Given the description of an element on the screen output the (x, y) to click on. 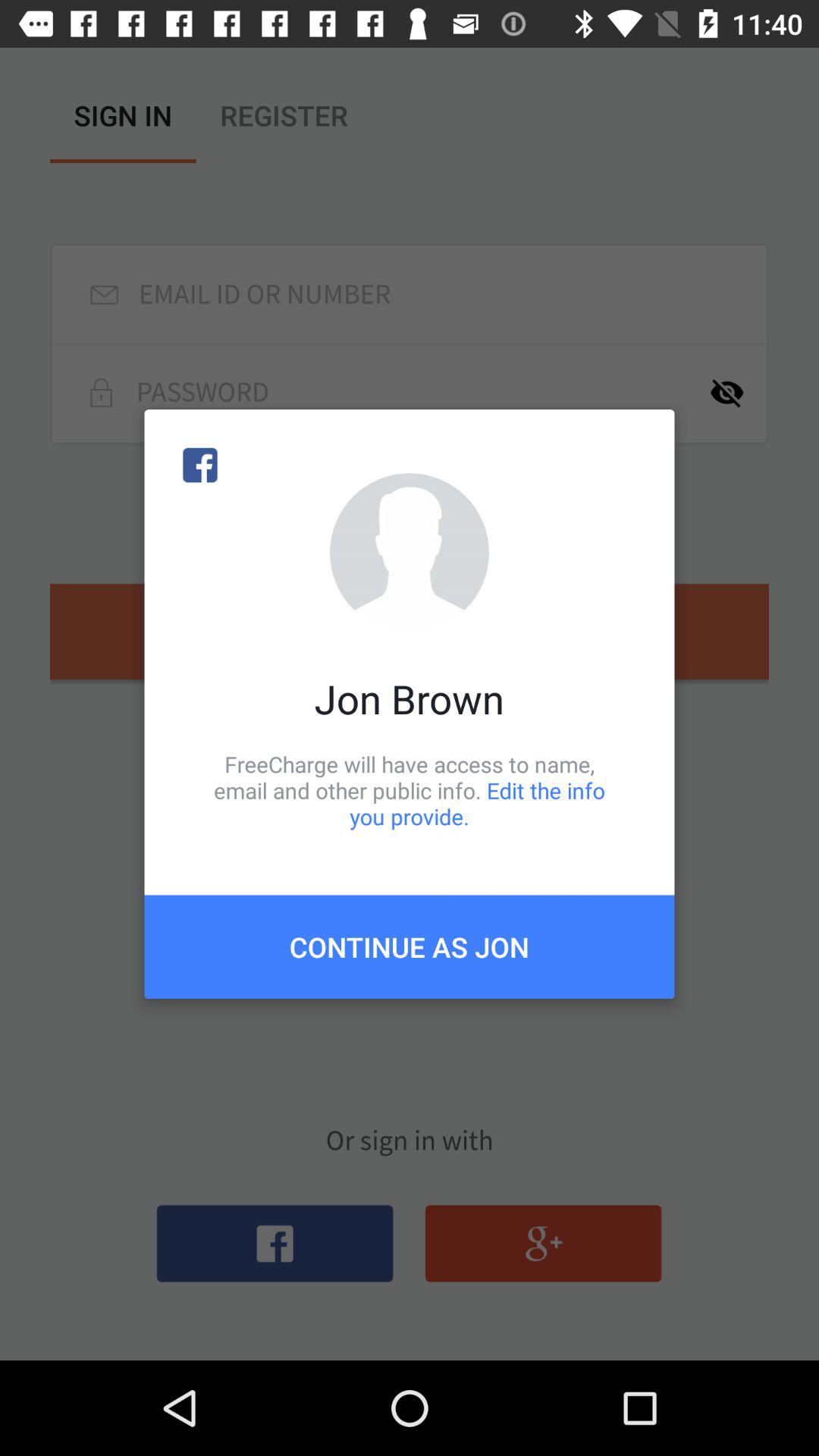
press icon above the continue as jon icon (409, 790)
